Given the description of an element on the screen output the (x, y) to click on. 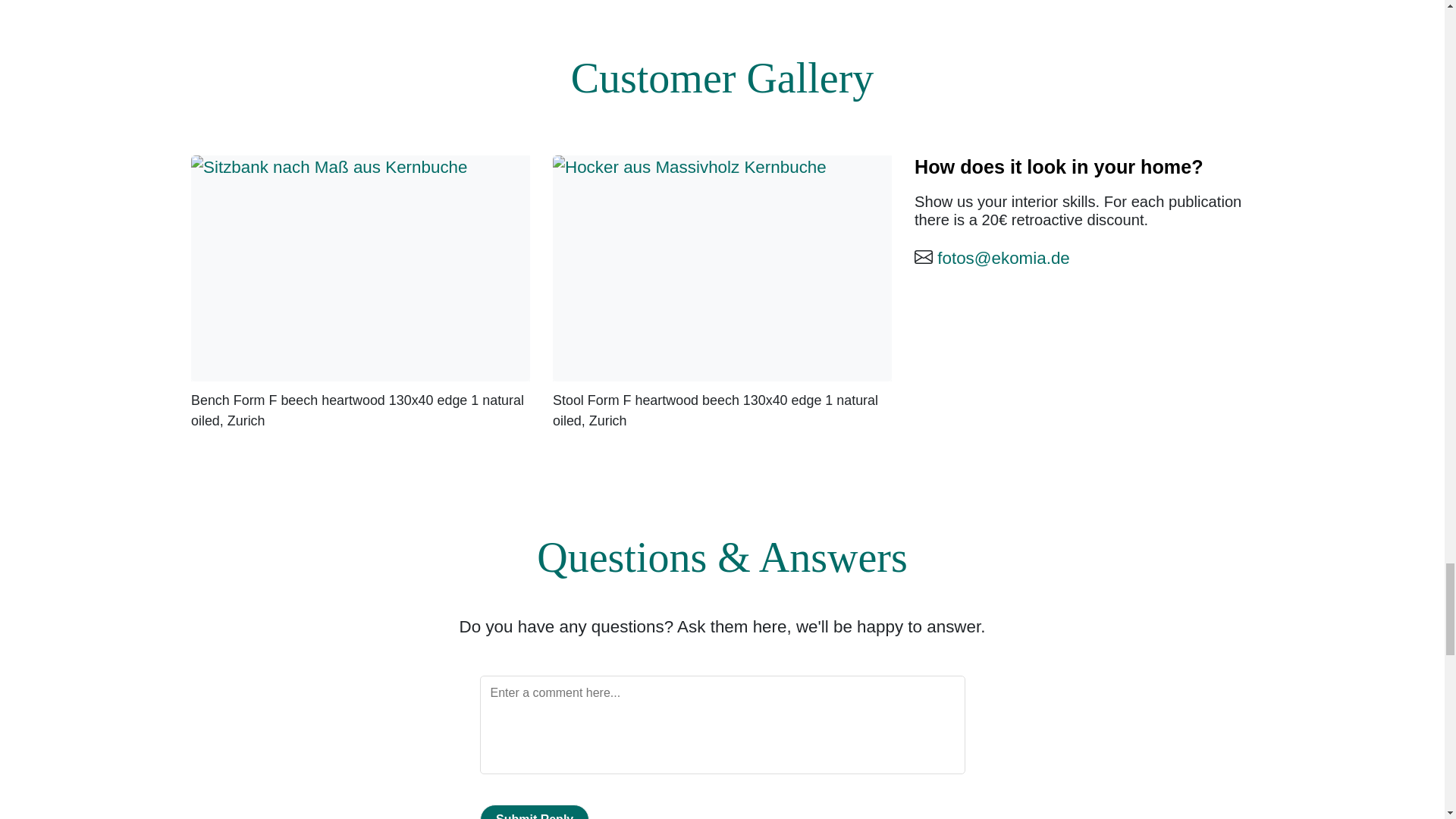
FastComments (721, 741)
